Given the description of an element on the screen output the (x, y) to click on. 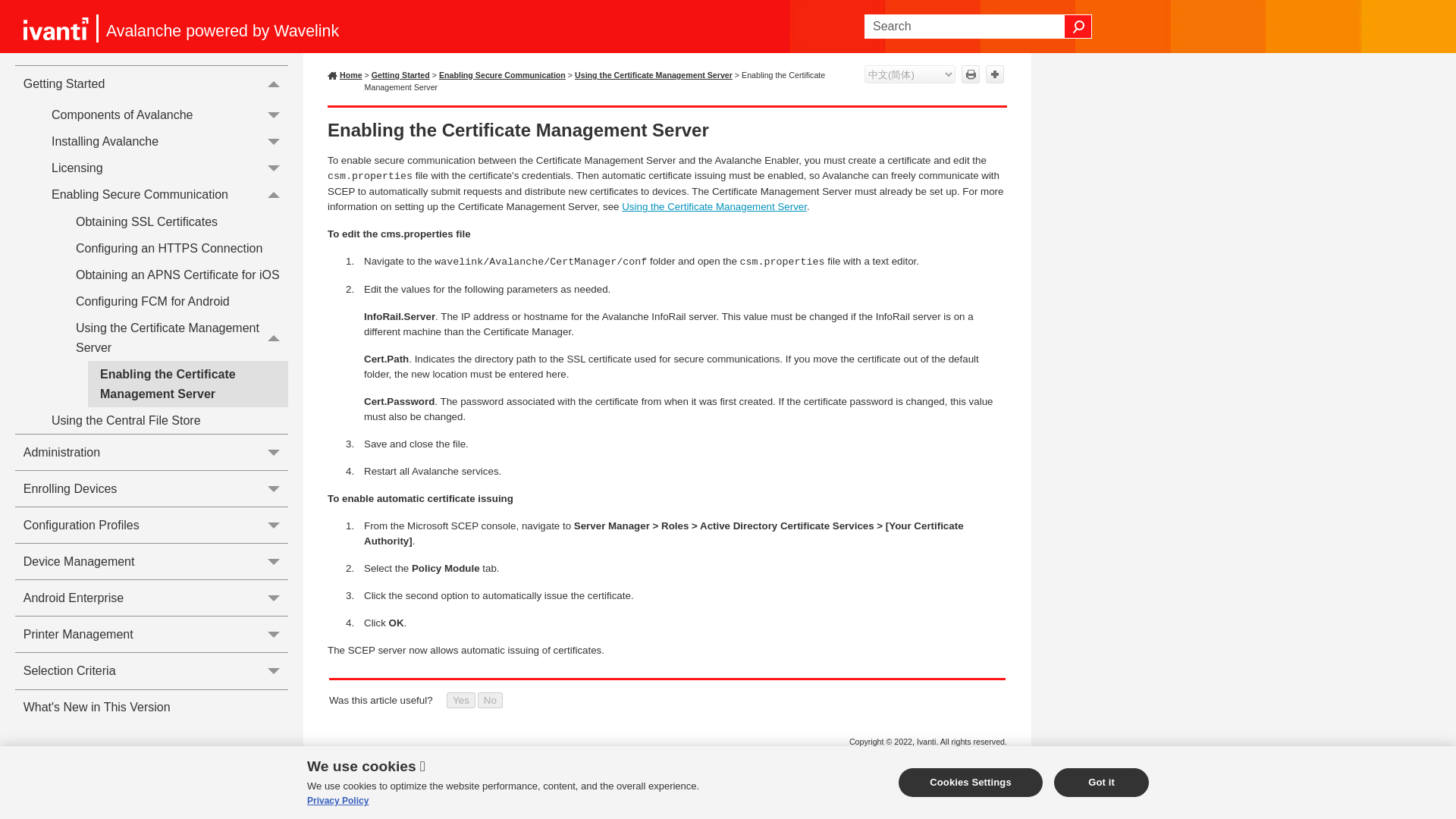
No (489, 700)
Yes (461, 700)
Privacy and Legal (974, 756)
Expand all (994, 74)
Print (969, 74)
Search (1078, 26)
